Given the description of an element on the screen output the (x, y) to click on. 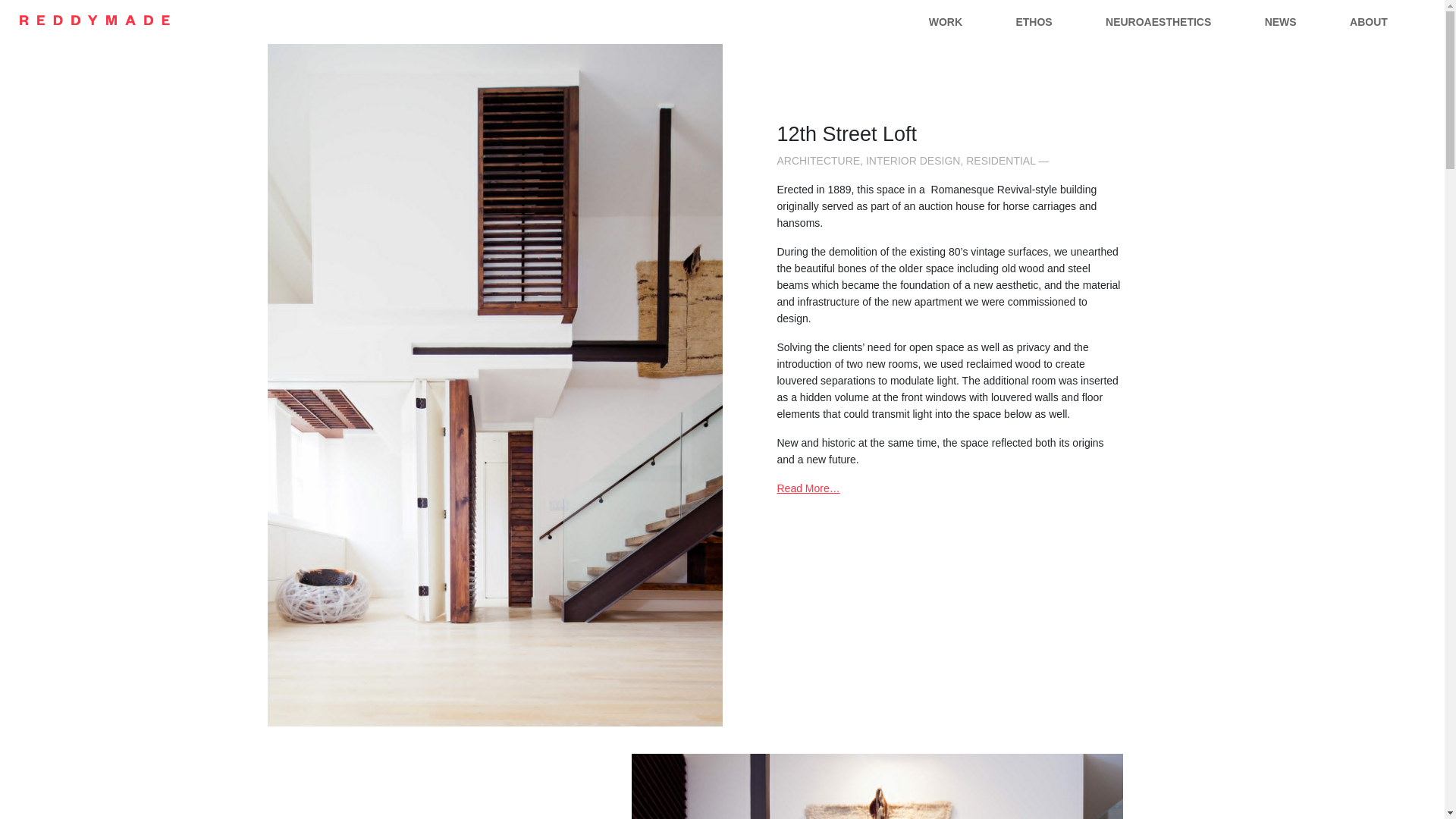
ETHOS (1033, 21)
NEUROAESTHETICS (1158, 21)
ABOUT (1369, 21)
WORK (945, 21)
NEWS (1280, 21)
